Given the description of an element on the screen output the (x, y) to click on. 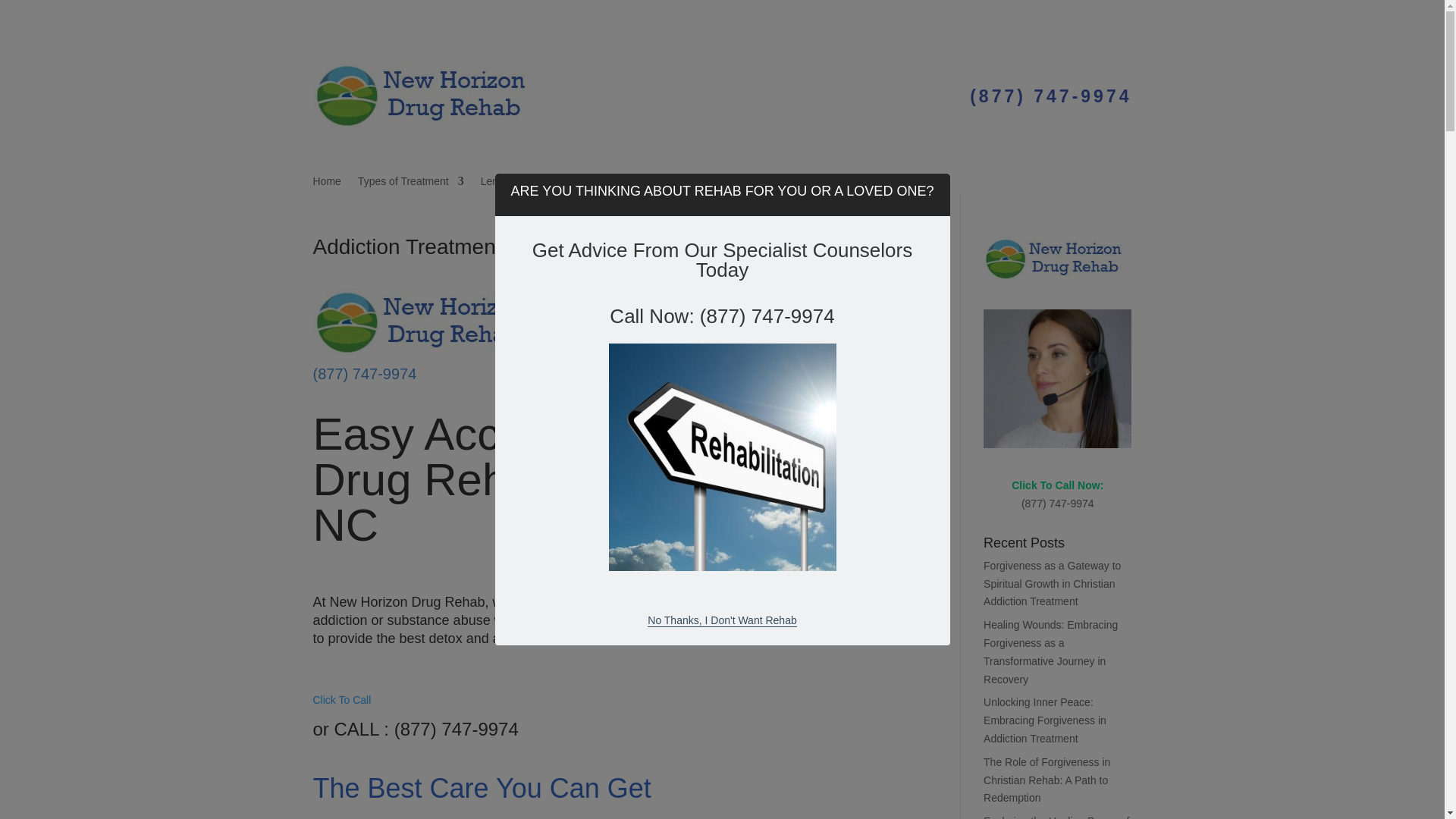
Home (326, 184)
logo (426, 94)
Types of Treatment (411, 184)
Click To Call (342, 699)
News (767, 184)
Drug Detox (711, 184)
logo (426, 321)
Dual Diagnosis Treatment (605, 184)
Length (504, 184)
